Given the description of an element on the screen output the (x, y) to click on. 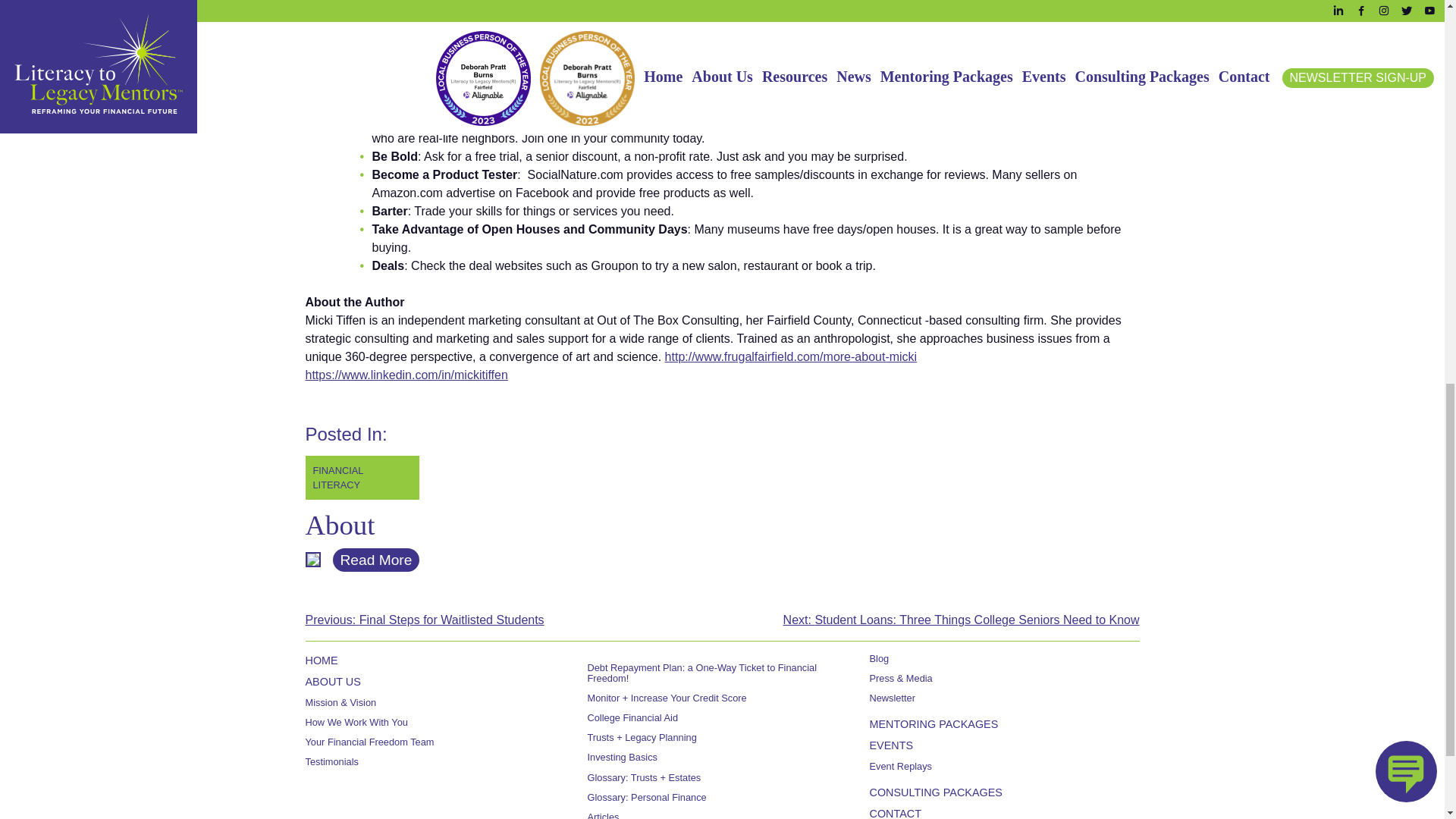
Financial Literacy (361, 477)
